Given the description of an element on the screen output the (x, y) to click on. 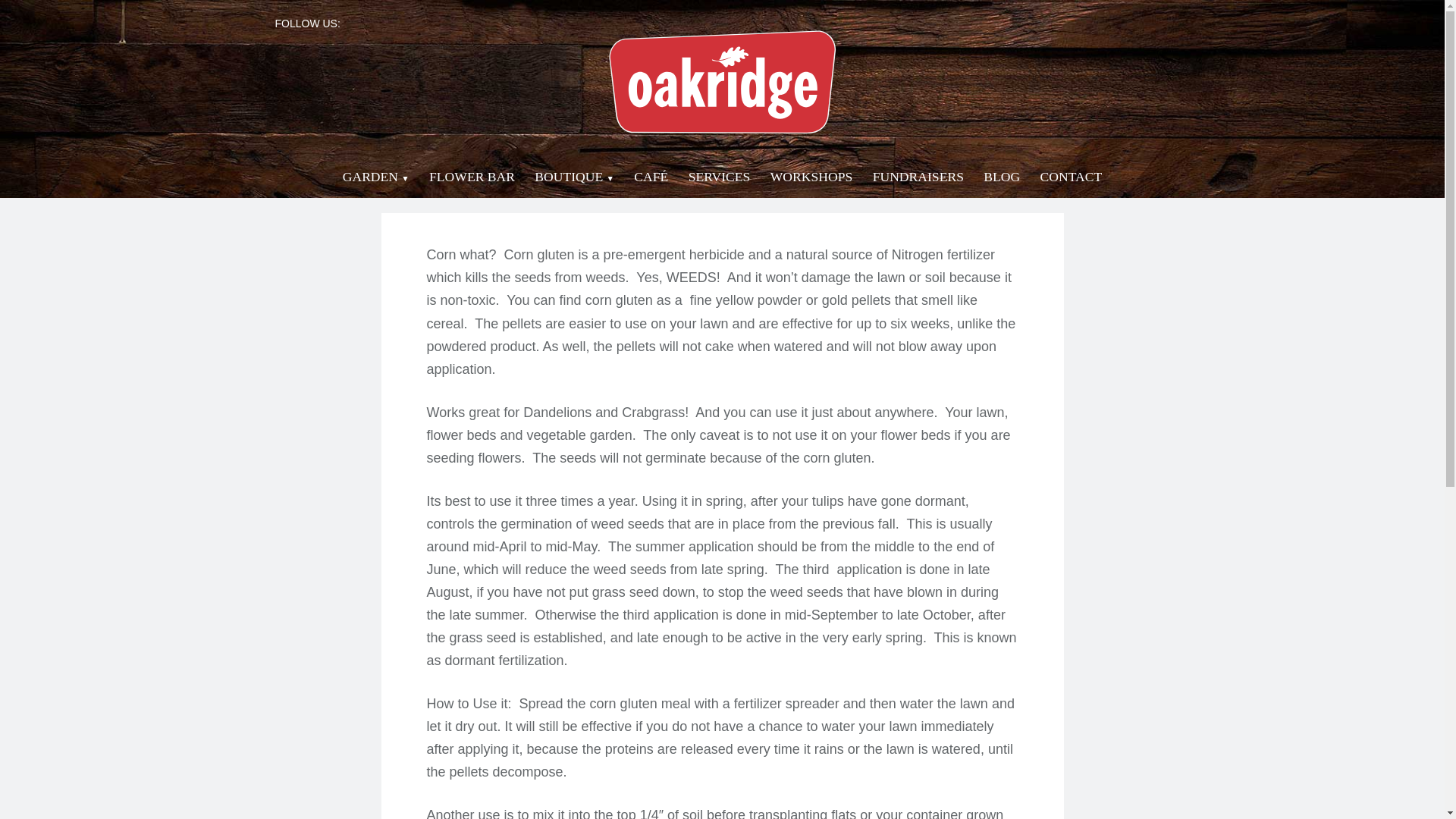
SERVICES (719, 176)
CONTACT (1071, 176)
WORKSHOPS (811, 176)
FUNDRAISERS (917, 176)
GARDEN (375, 176)
BOUTIQUE (574, 176)
FLOWER BAR (472, 176)
BLOG (1002, 176)
